Given the description of an element on the screen output the (x, y) to click on. 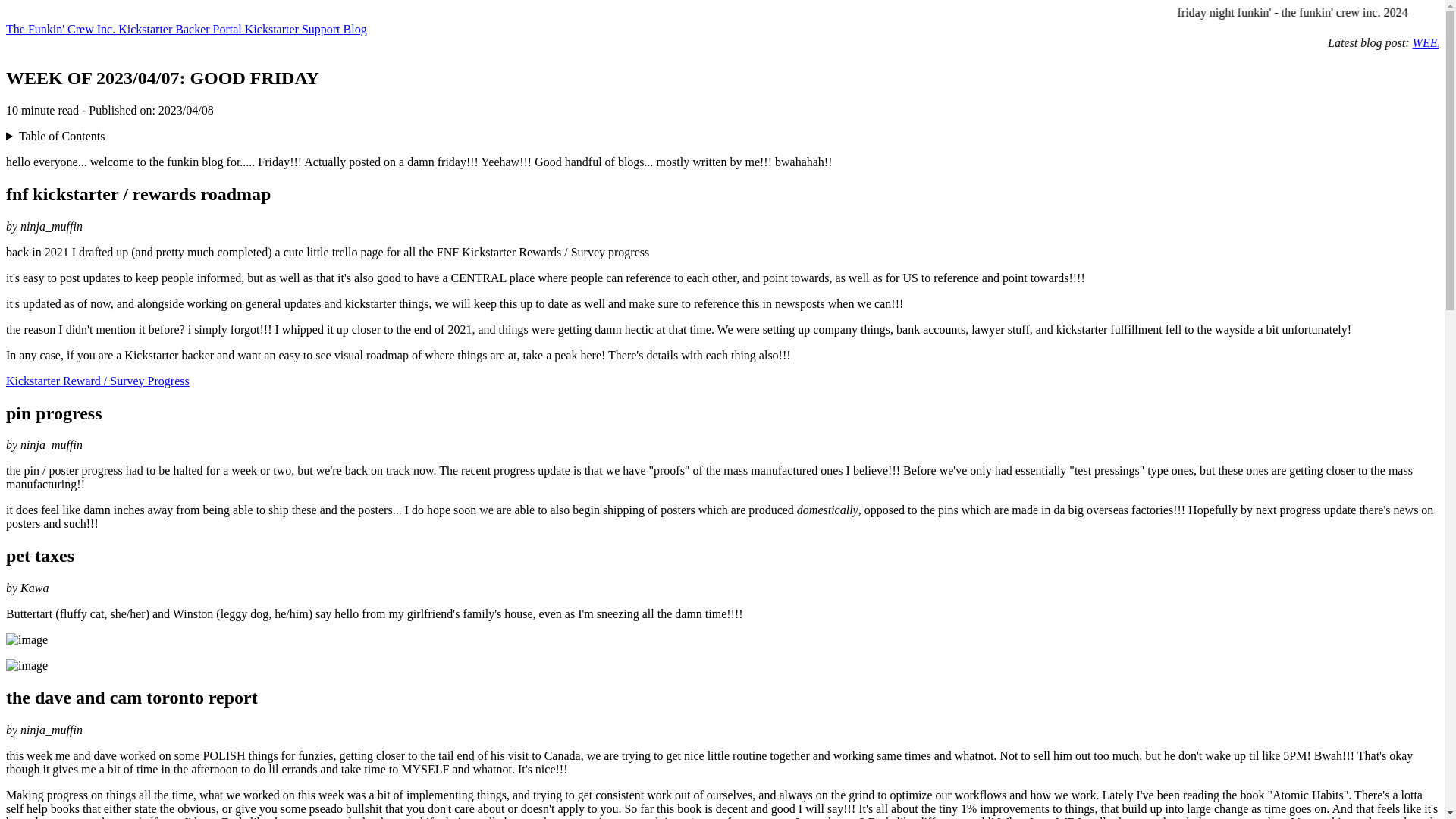
The Funkin' Crew Inc. (61, 29)
Kickstarter Support (293, 29)
Kickstarter Backer Portal (180, 29)
Blog (354, 29)
